Given the description of an element on the screen output the (x, y) to click on. 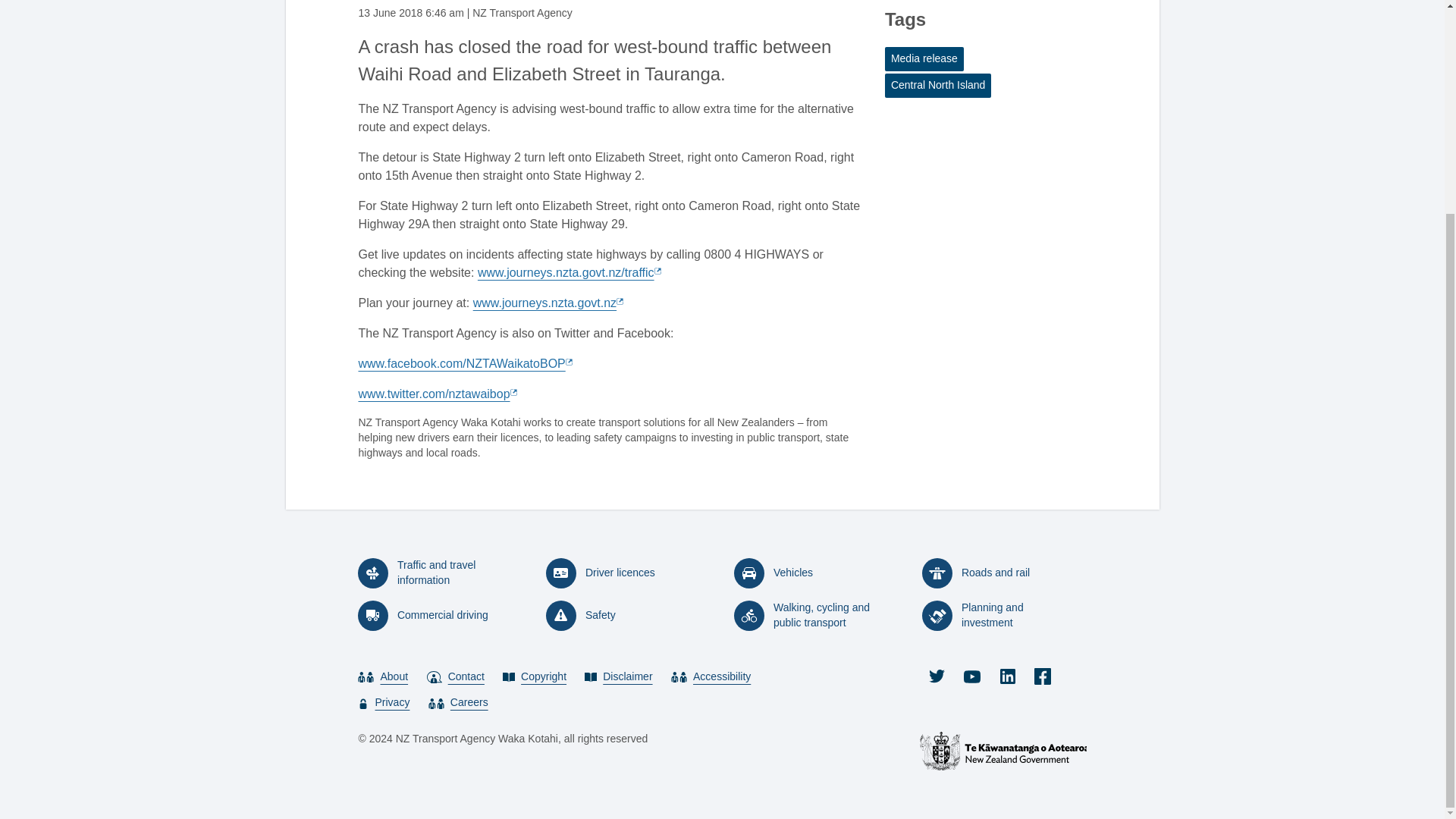
Link to Facebook.  (463, 363)
View all posts tagged 'Central North Island' (938, 85)
Link to Twitter.  (435, 393)
View all posts tagged 'Media release' (924, 58)
Link to Journey Planner.  (547, 302)
Link to traffic information (568, 272)
